Given the description of an element on the screen output the (x, y) to click on. 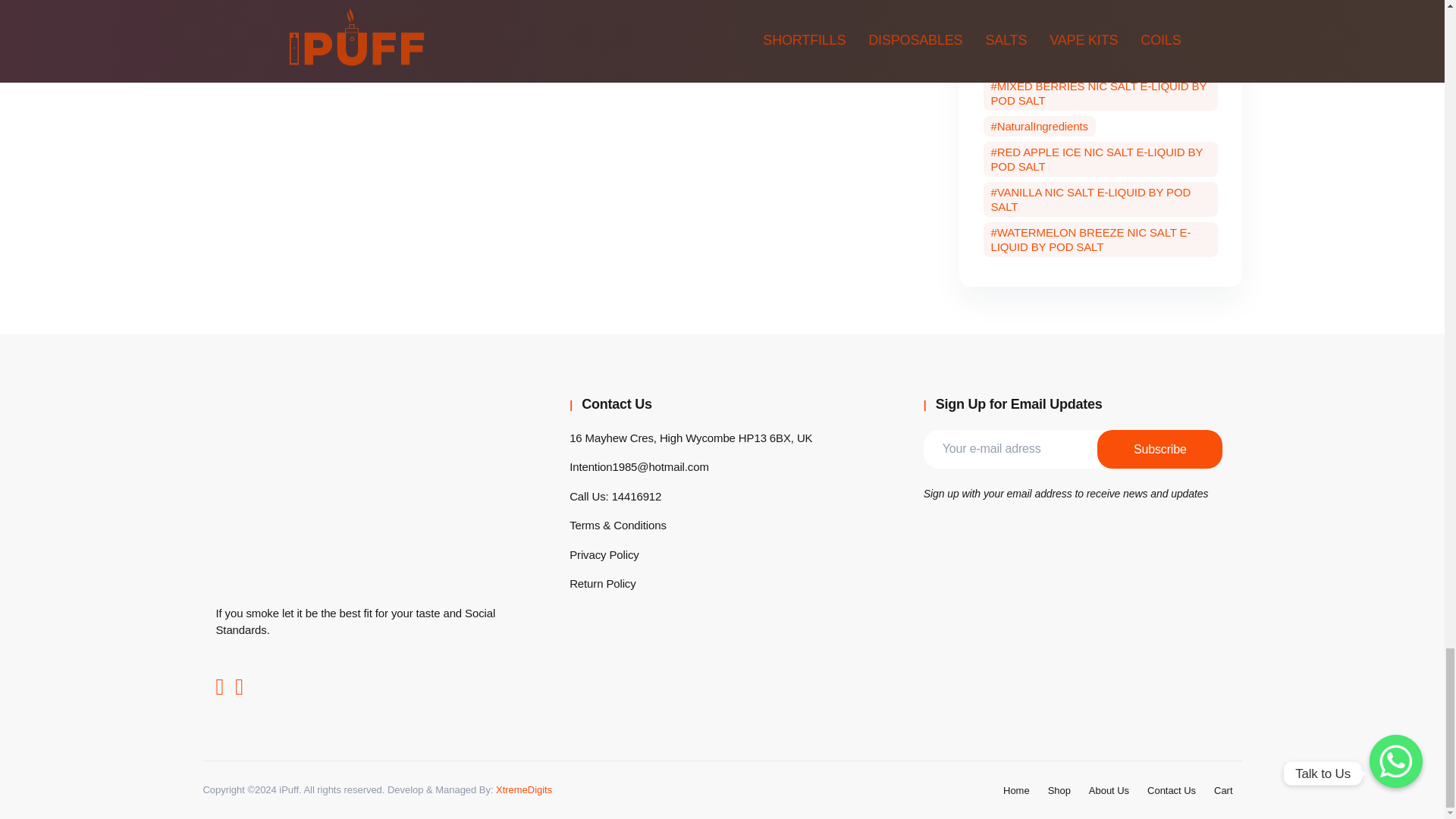
Subscribe (1160, 448)
